Given the description of an element on the screen output the (x, y) to click on. 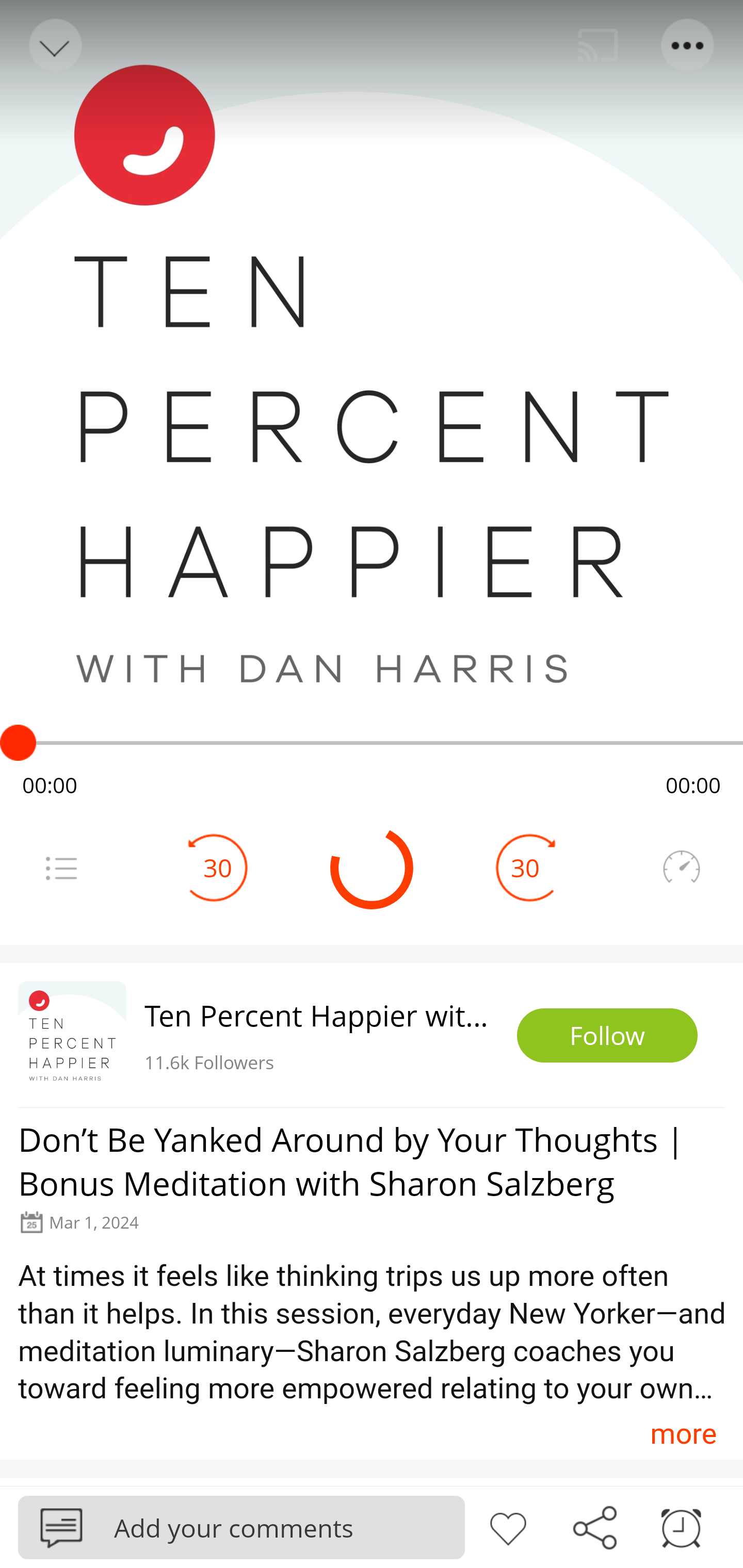
Back (53, 45)
Cast. Disconnected (597, 45)
Menu (688, 45)
30 Seek Backward (217, 867)
30 Seek Forward (525, 867)
Menu (60, 867)
Speedometer (681, 867)
Follow (607, 1035)
more (682, 1432)
Like (508, 1526)
Share (594, 1526)
Sleep timer (681, 1526)
Podbean Add your comments (241, 1526)
